Given the description of an element on the screen output the (x, y) to click on. 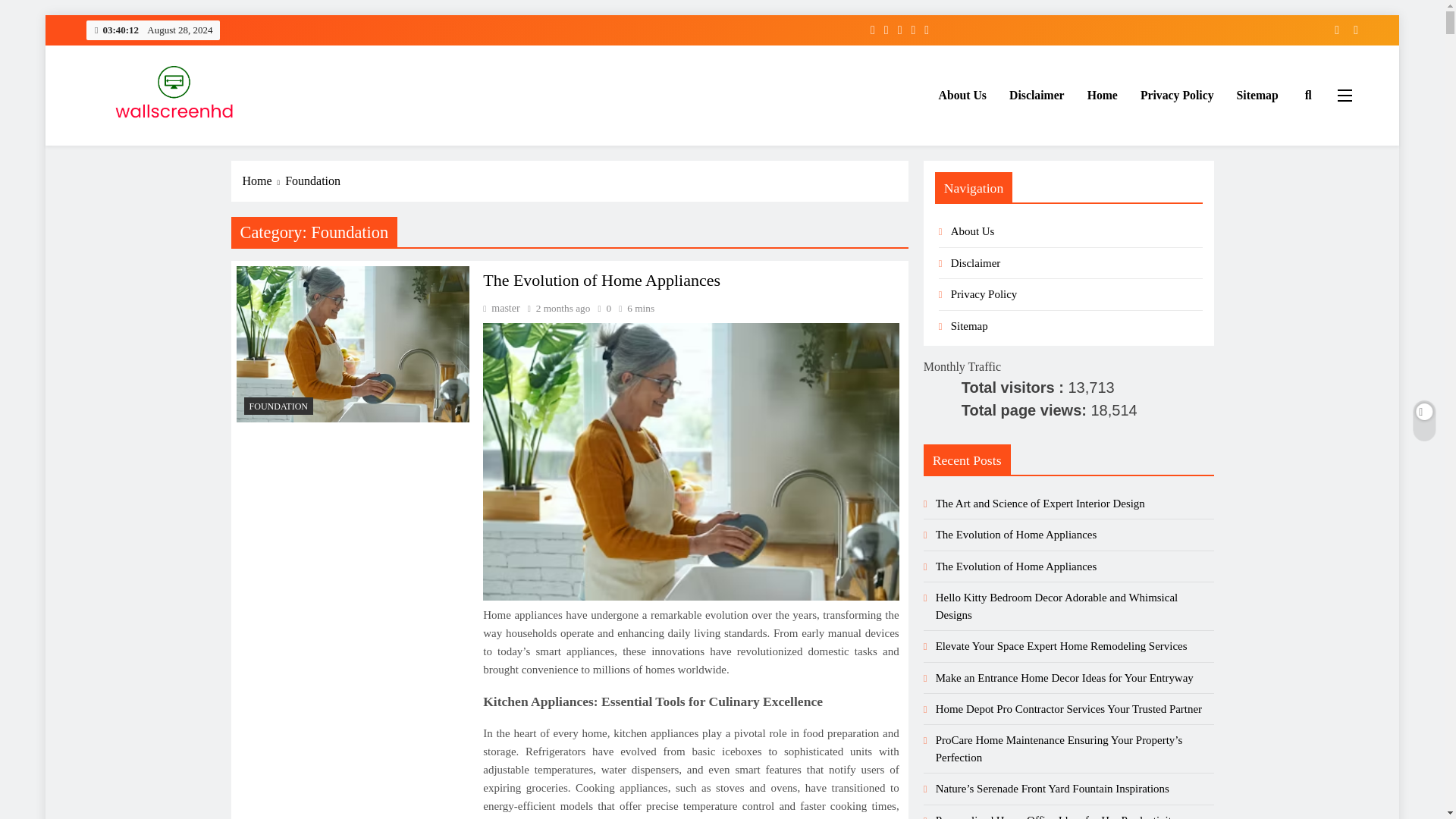
Disclaimer (1036, 95)
The Evolution of Home Appliances (601, 280)
FOUNDATION (279, 405)
The Evolution of Home Appliances (601, 280)
The Evolution of Home Appliances (690, 461)
The Evolution of Home Appliances (352, 343)
Home (264, 180)
Sitemap (1257, 95)
2 months ago (563, 307)
